Given the description of an element on the screen output the (x, y) to click on. 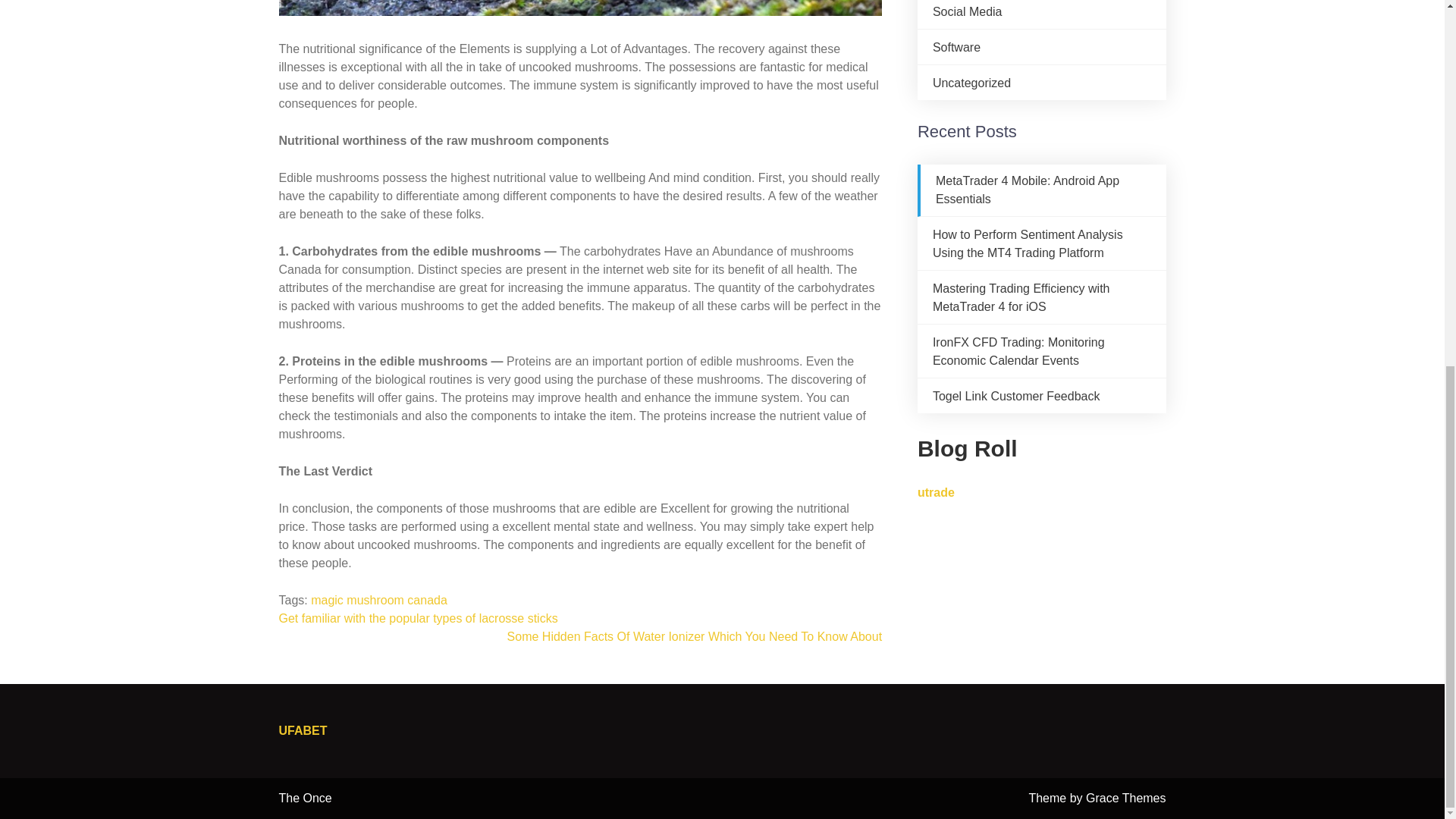
Software (956, 47)
Mastering Trading Efficiency with MetaTrader 4 for iOS (1021, 296)
IronFX CFD Trading: Monitoring Economic Calendar Events (1019, 350)
Social Media (968, 11)
MetaTrader 4 Mobile: Android App Essentials (1027, 189)
utrade (936, 492)
UFABET (303, 730)
Get familiar with the popular types of lacrosse sticks (418, 617)
Togel Link Customer Feedback (1016, 395)
magic mushroom canada (378, 599)
Uncategorized (971, 82)
